Given the description of an element on the screen output the (x, y) to click on. 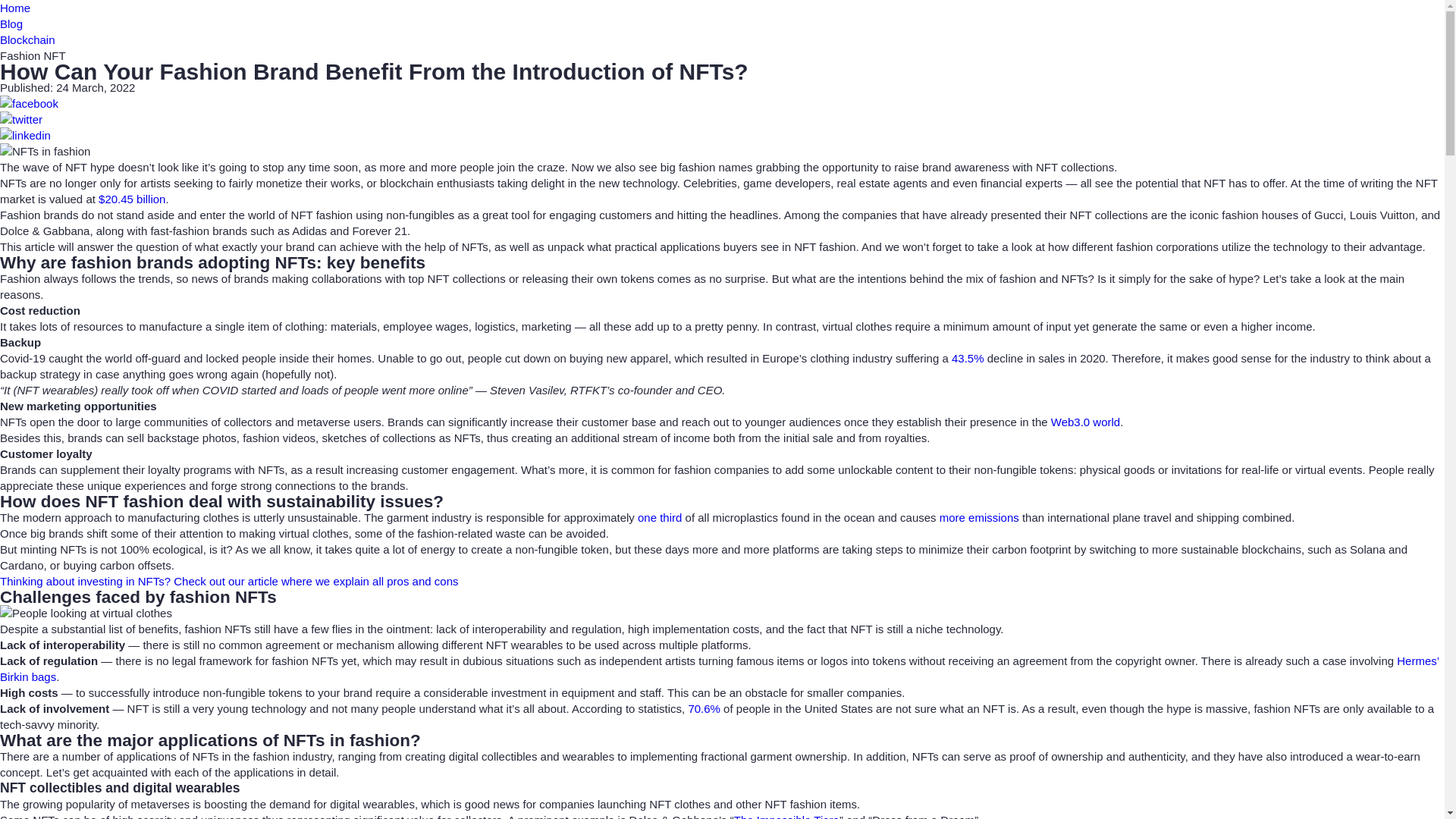
Blog (11, 23)
Home (15, 7)
one third (659, 517)
Blockchain (27, 39)
Web3.0 world (1085, 421)
more emissions (979, 517)
The Impossible Tiara (786, 816)
